Given the description of an element on the screen output the (x, y) to click on. 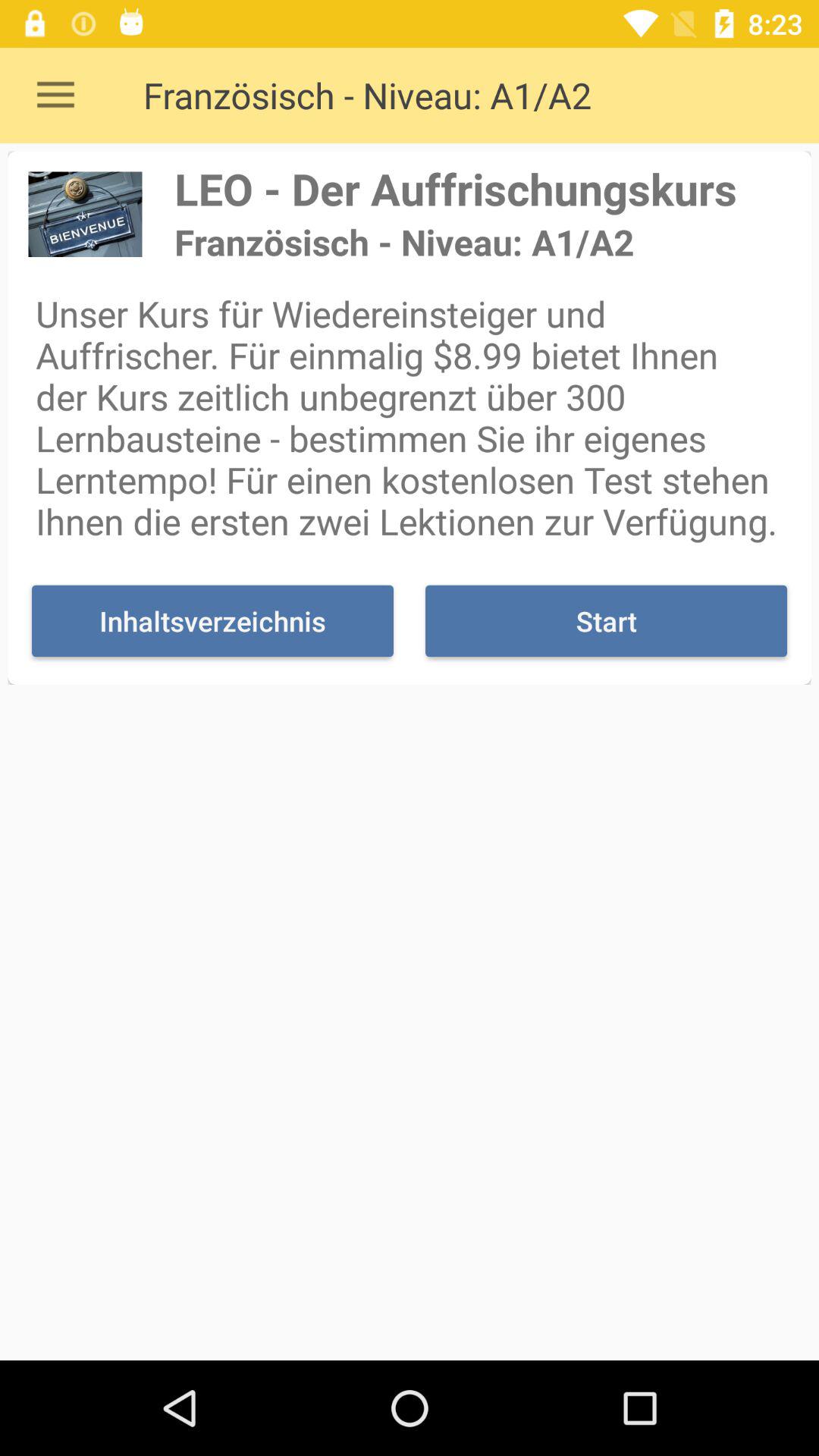
tap the inhaltsverzeichnis item (212, 620)
